Given the description of an element on the screen output the (x, y) to click on. 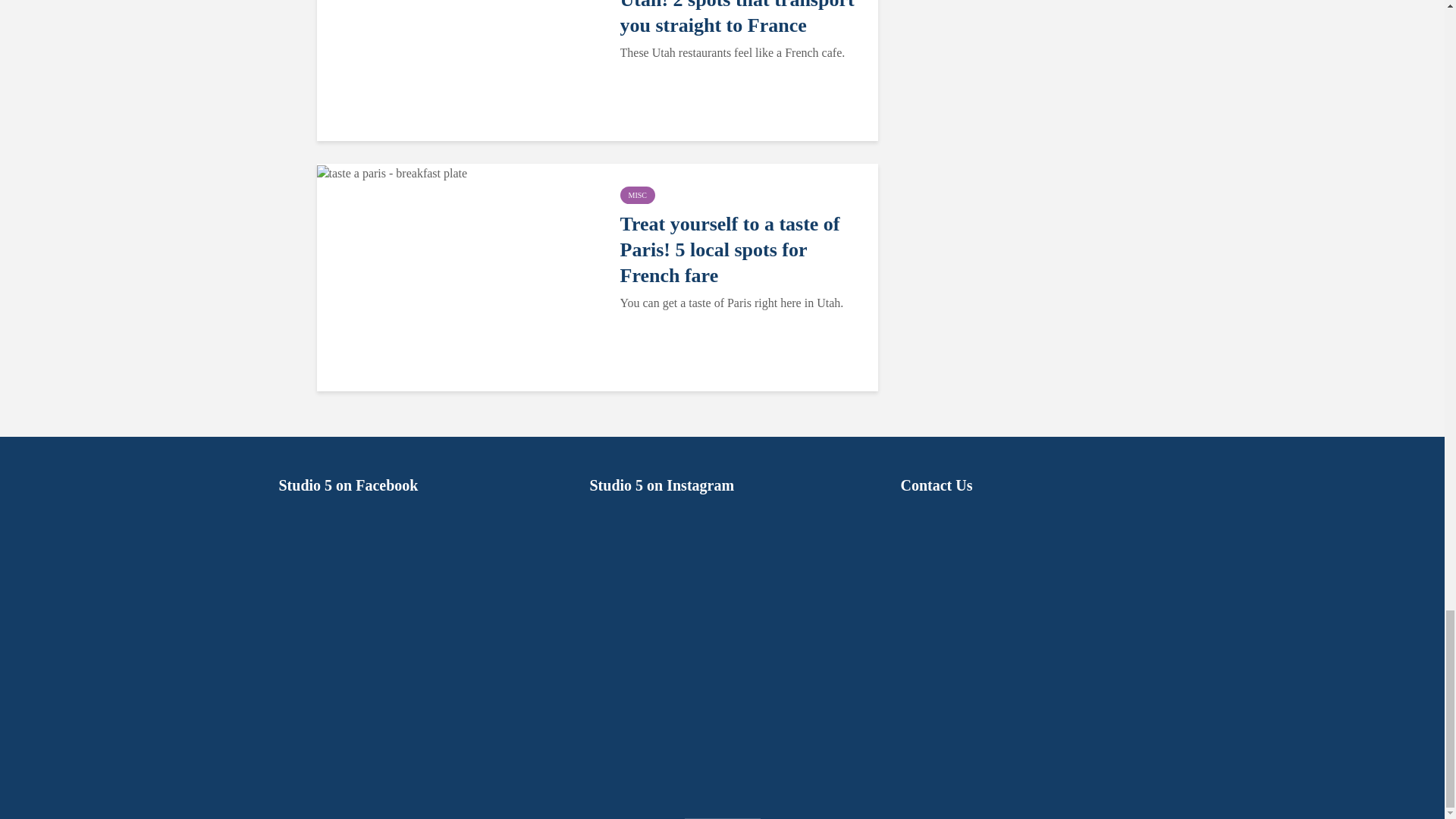
MISC (637, 194)
